Given the description of an element on the screen output the (x, y) to click on. 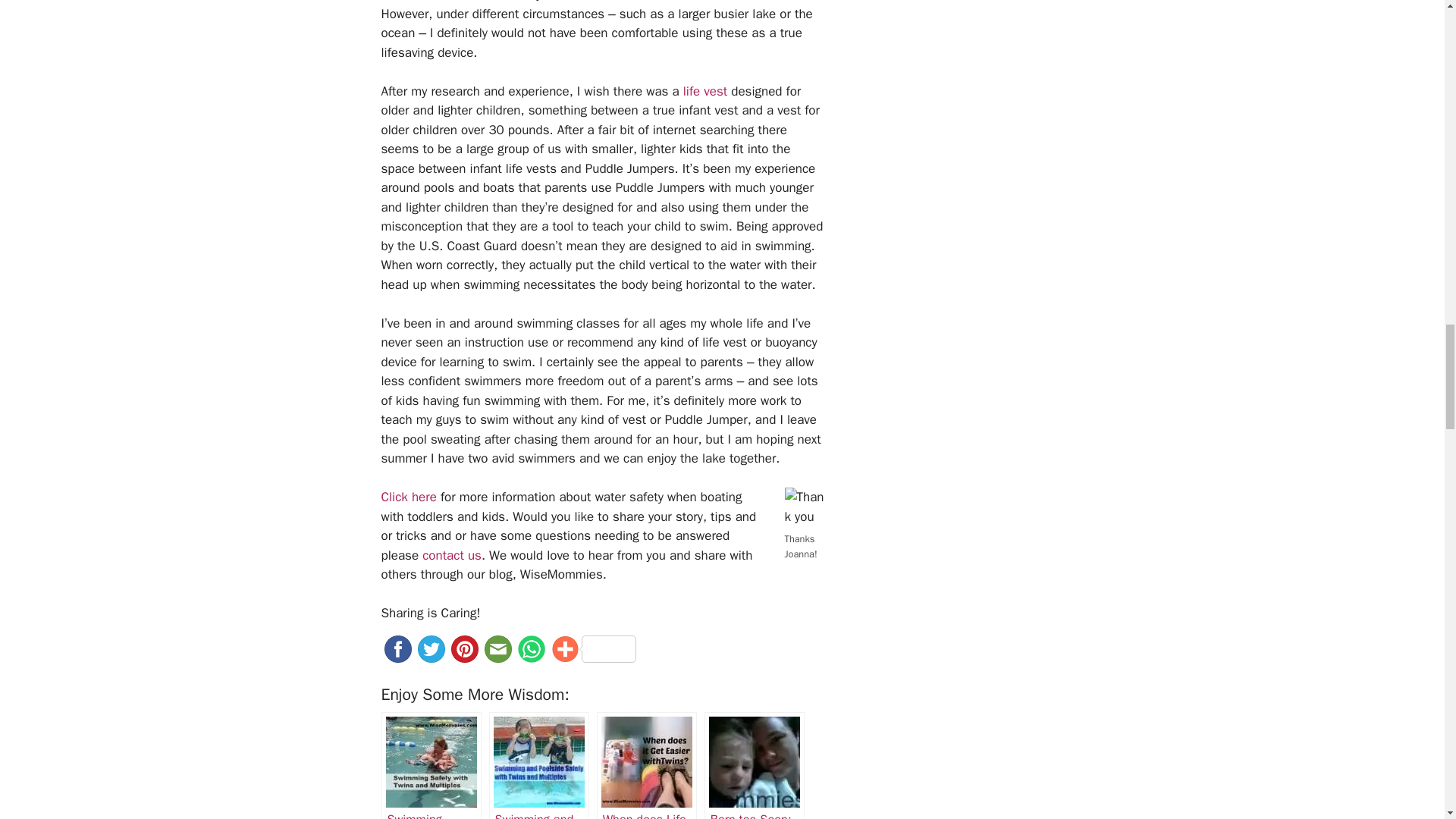
life vests on Amazon (704, 91)
Facebook (396, 653)
Boater Kids website (407, 496)
WiseMommies Contact (451, 555)
